Given the description of an element on the screen output the (x, y) to click on. 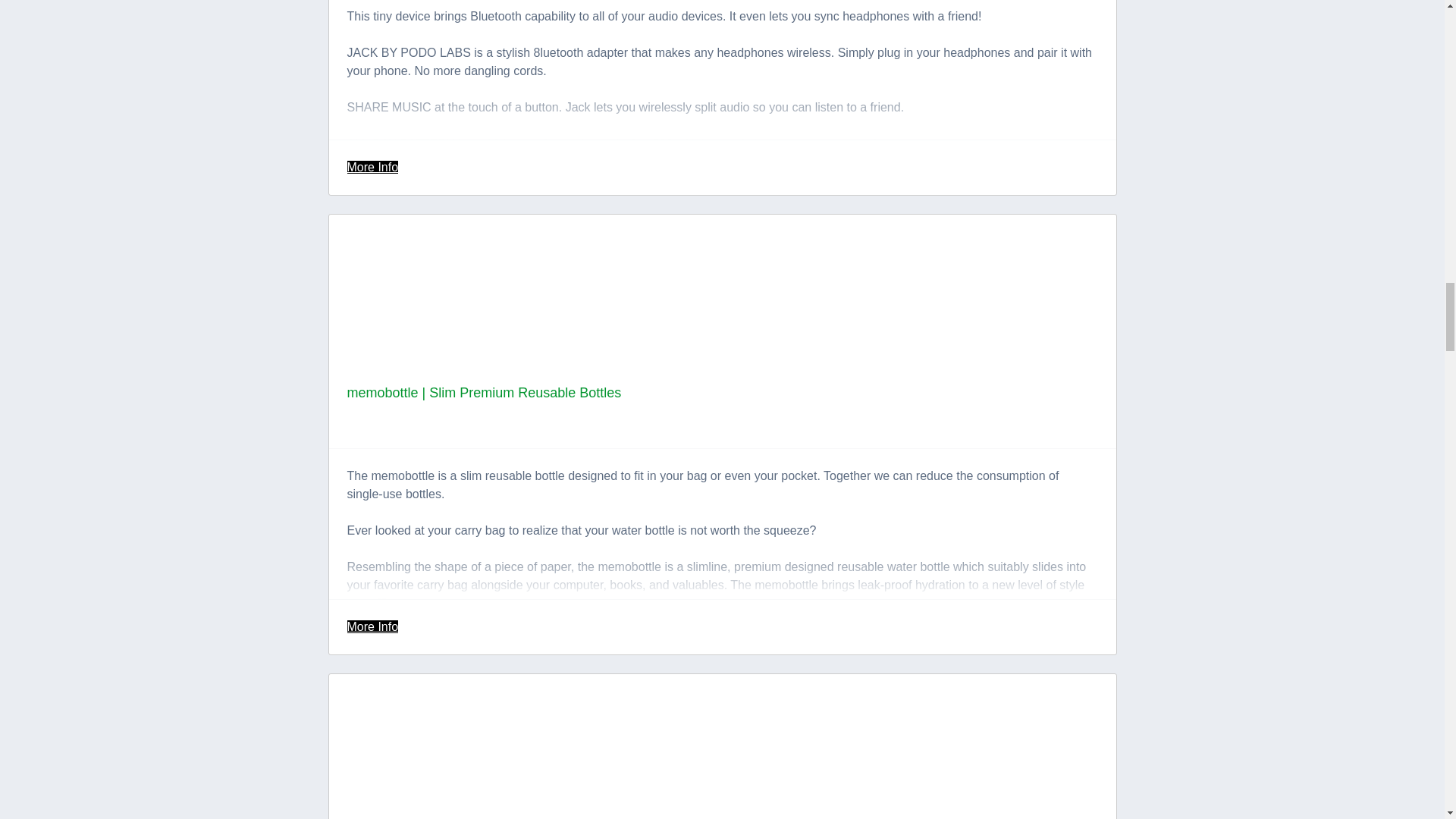
More Info (372, 626)
More Info (372, 166)
